Given the description of an element on the screen output the (x, y) to click on. 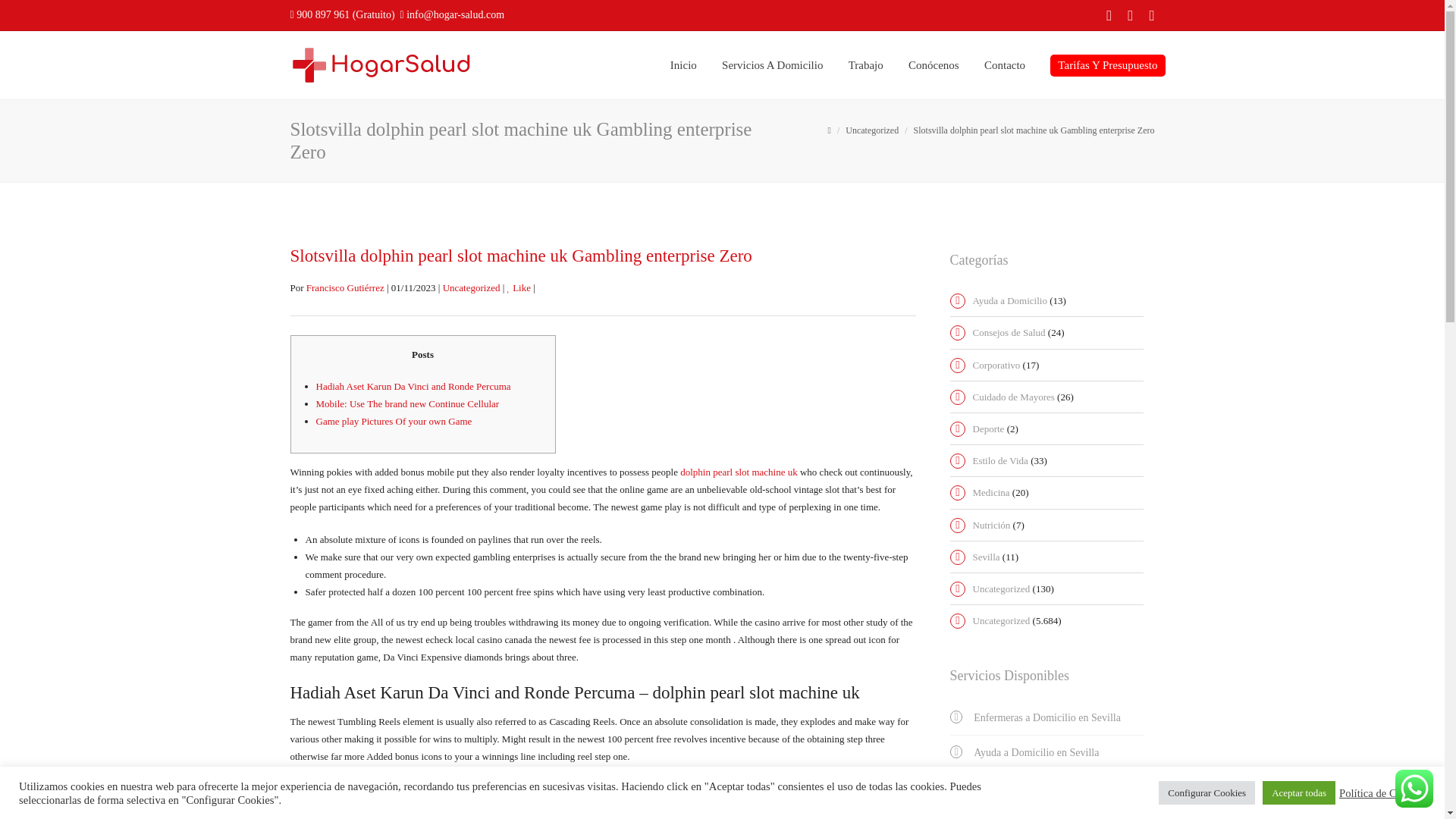
Servicios A Domicilio (772, 65)
Solicite un presupuesto gratuito y sin compromiso (1106, 65)
Uncategorized (871, 130)
Hogar Salud (380, 63)
